Given the description of an element on the screen output the (x, y) to click on. 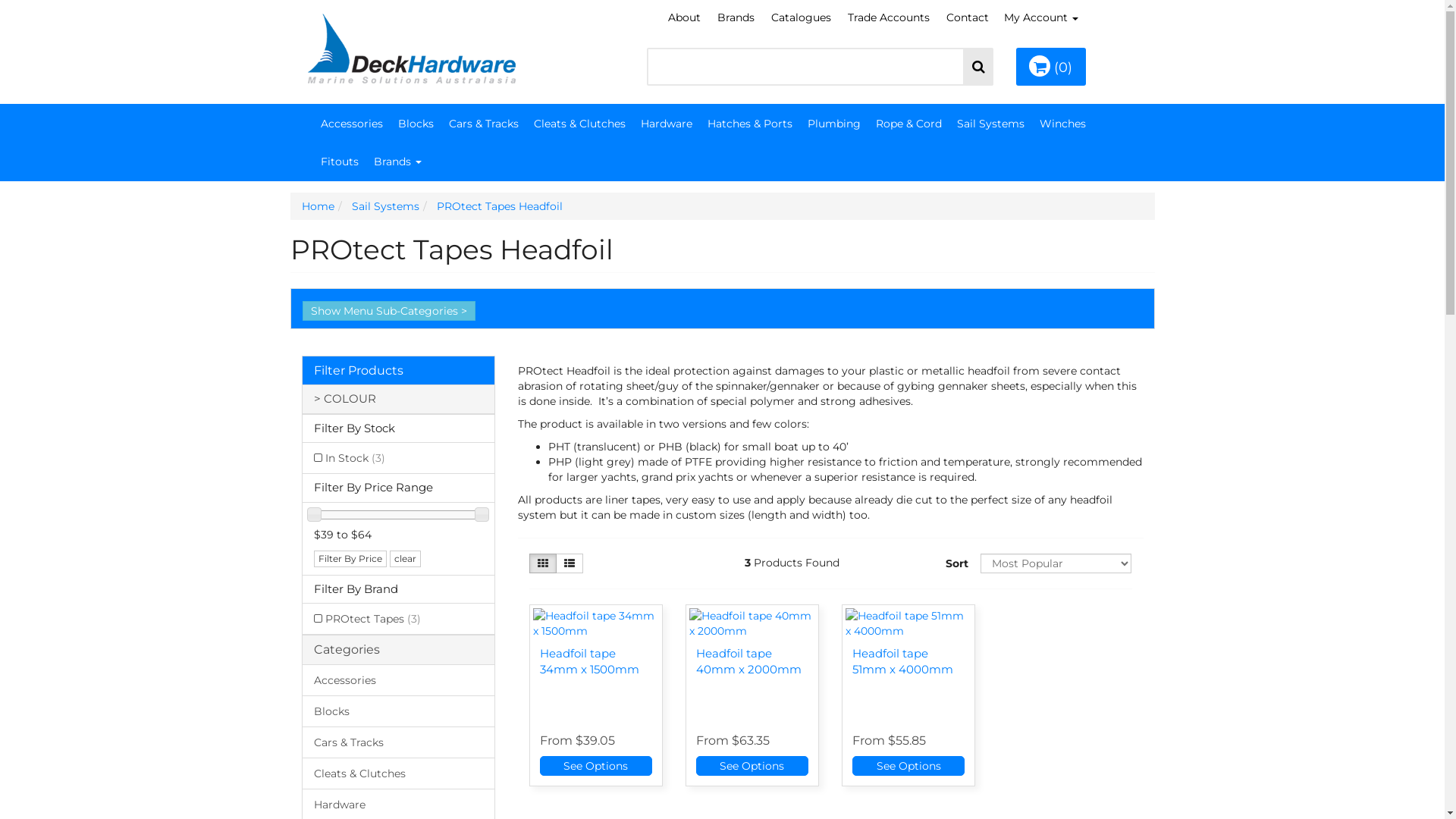
Rope & Cord Element type: text (907, 123)
Filter Products Element type: text (358, 370)
DeckHardware Element type: hover (410, 43)
Winches Element type: text (1061, 123)
clear Element type: text (404, 558)
Cleats & Clutches Element type: text (397, 773)
Contact Element type: text (967, 17)
Headfoil tape 51mm x 4000mm Element type: text (902, 661)
Search Element type: text (978, 66)
Cars & Tracks Element type: text (397, 742)
Accessories Element type: text (350, 123)
Trade Accounts Element type: text (888, 17)
See Options Element type: text (752, 765)
Cars & Tracks Element type: text (483, 123)
Hatches & Ports Element type: text (749, 123)
Brands Element type: text (396, 161)
PROtect Tapes Headfoil Element type: text (499, 206)
Headfoil tape 40mm x 2000mm Element type: text (748, 661)
Hardware Element type: text (665, 123)
My Account Element type: text (1040, 17)
Show Menu Sub-Categories > Element type: text (387, 310)
Headfoil tape 34mm x 1500mm Element type: text (589, 661)
About Element type: text (684, 17)
Blocks Element type: text (414, 123)
Sail Systems Element type: text (990, 123)
Sail Systems Element type: text (385, 206)
Fitouts Element type: text (338, 161)
Home Element type: text (317, 206)
In Stock (3) Element type: text (397, 457)
See Options Element type: text (595, 765)
Cleats & Clutches Element type: text (579, 123)
Brands Element type: text (735, 17)
See Options Element type: text (908, 765)
Blocks Element type: text (397, 711)
Accessories Element type: text (397, 680)
Plumbing Element type: text (833, 123)
> COLOUR Element type: text (398, 398)
Catalogues Element type: text (800, 17)
(0) Element type: text (1050, 66)
PROtect Tapes (3) Element type: text (397, 617)
Filter By Price Element type: text (349, 558)
